Given the description of an element on the screen output the (x, y) to click on. 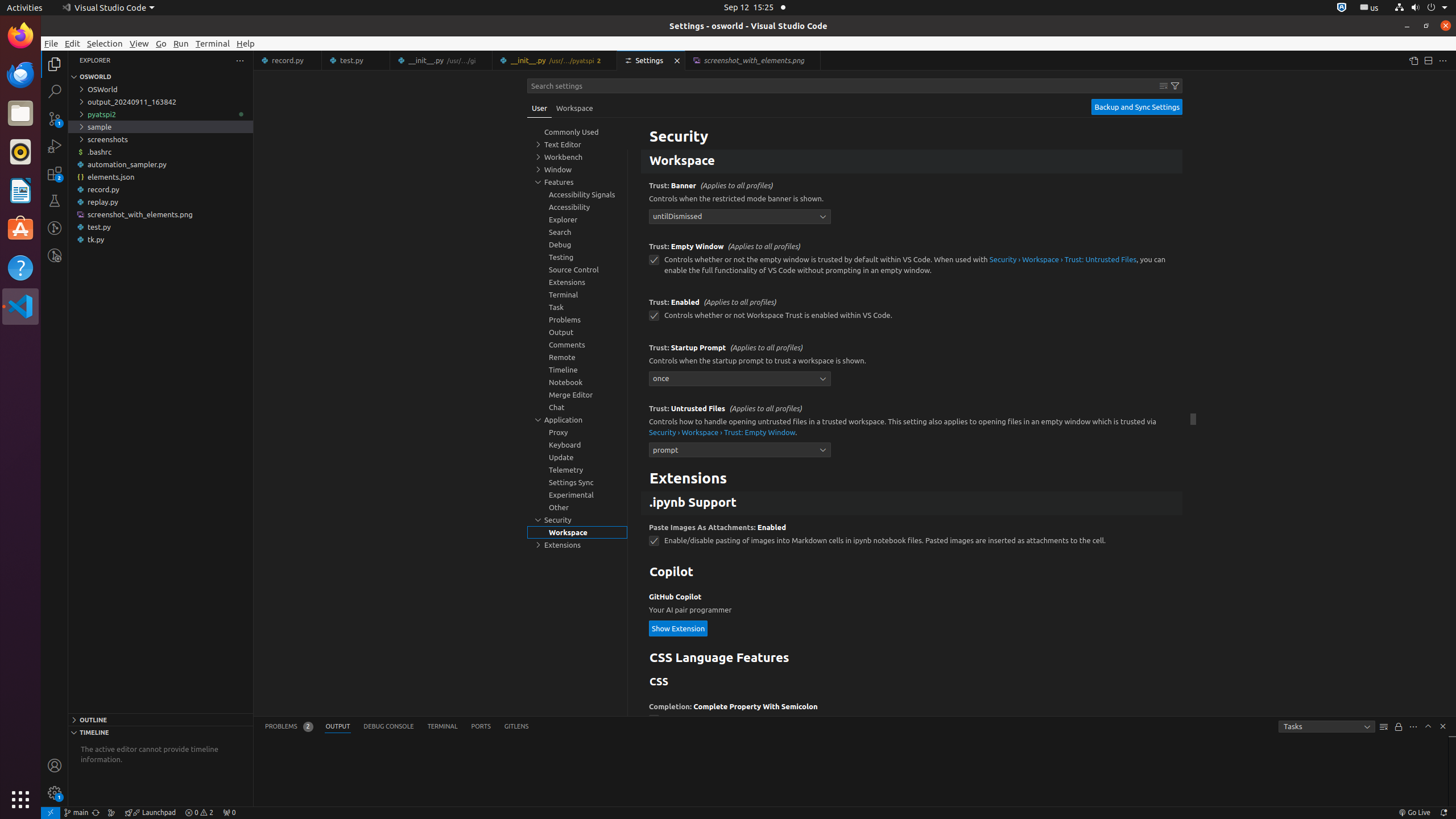
Debug, group Element type: tree-item (577, 244)
Workspace Element type: check-box (574, 107)
Features, group Element type: tree-item (577, 181)
Window, group Element type: tree-item (577, 169)
Backup and Sync Settings Element type: push-button (1136, 106)
